Given the description of an element on the screen output the (x, y) to click on. 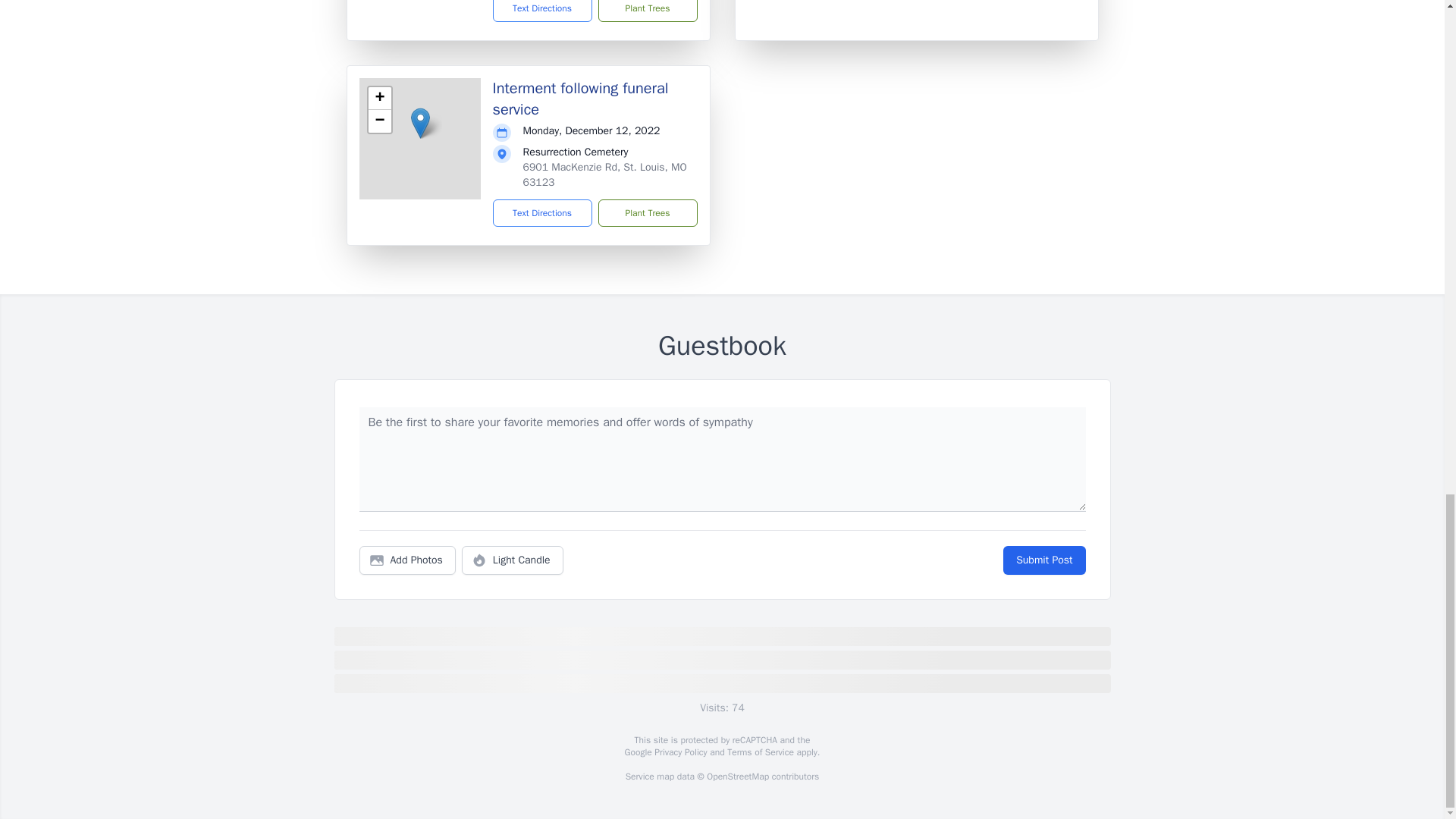
Plant Trees (646, 212)
Zoom out (379, 120)
Zoom in (379, 97)
Plant Trees (646, 11)
Text Directions (542, 11)
6901 MacKenzie Rd, St. Louis, MO 63123 (604, 174)
Text Directions (542, 212)
